Given the description of an element on the screen output the (x, y) to click on. 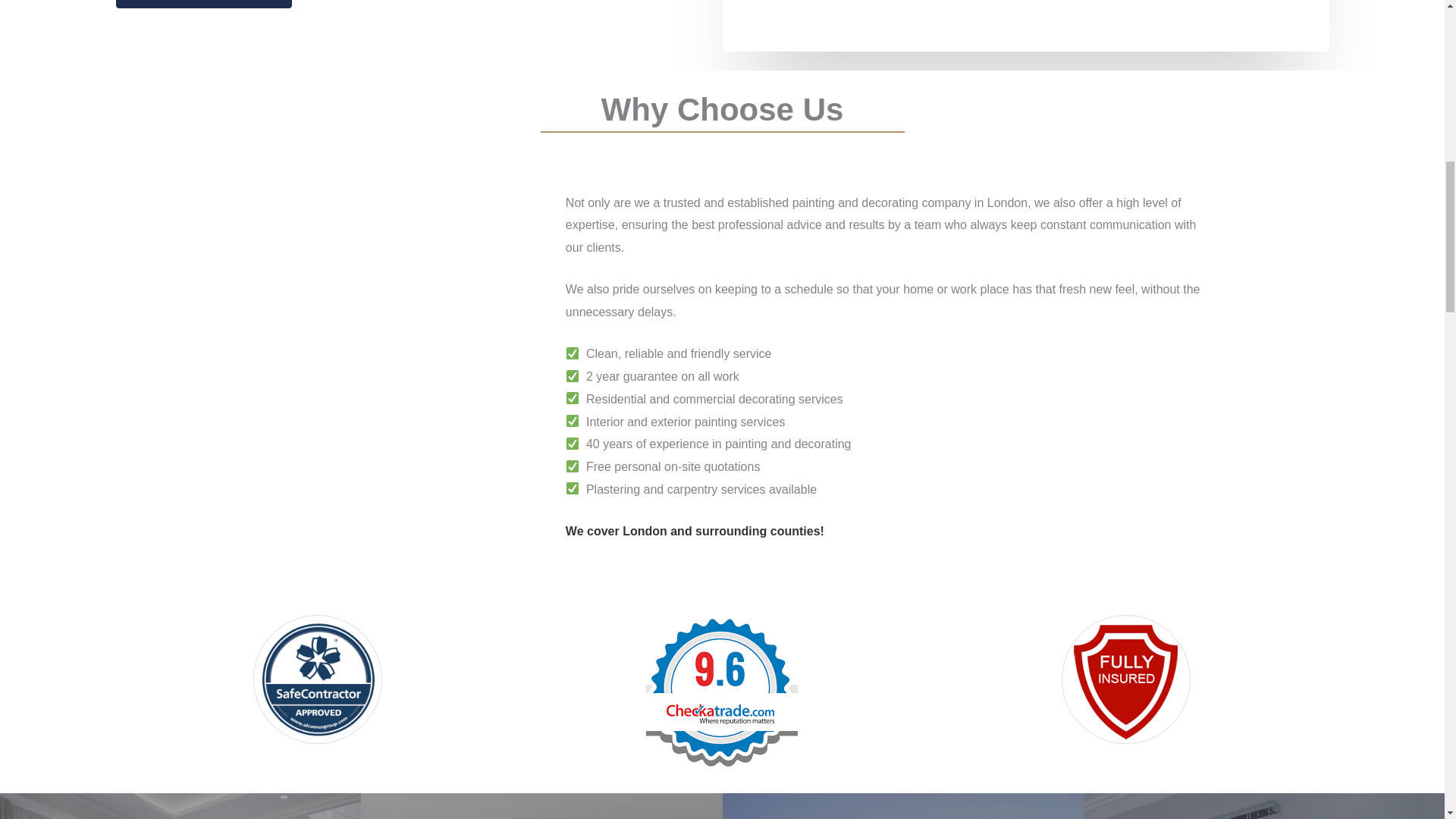
Call Us For Free Quote (203, 4)
